Given the description of an element on the screen output the (x, y) to click on. 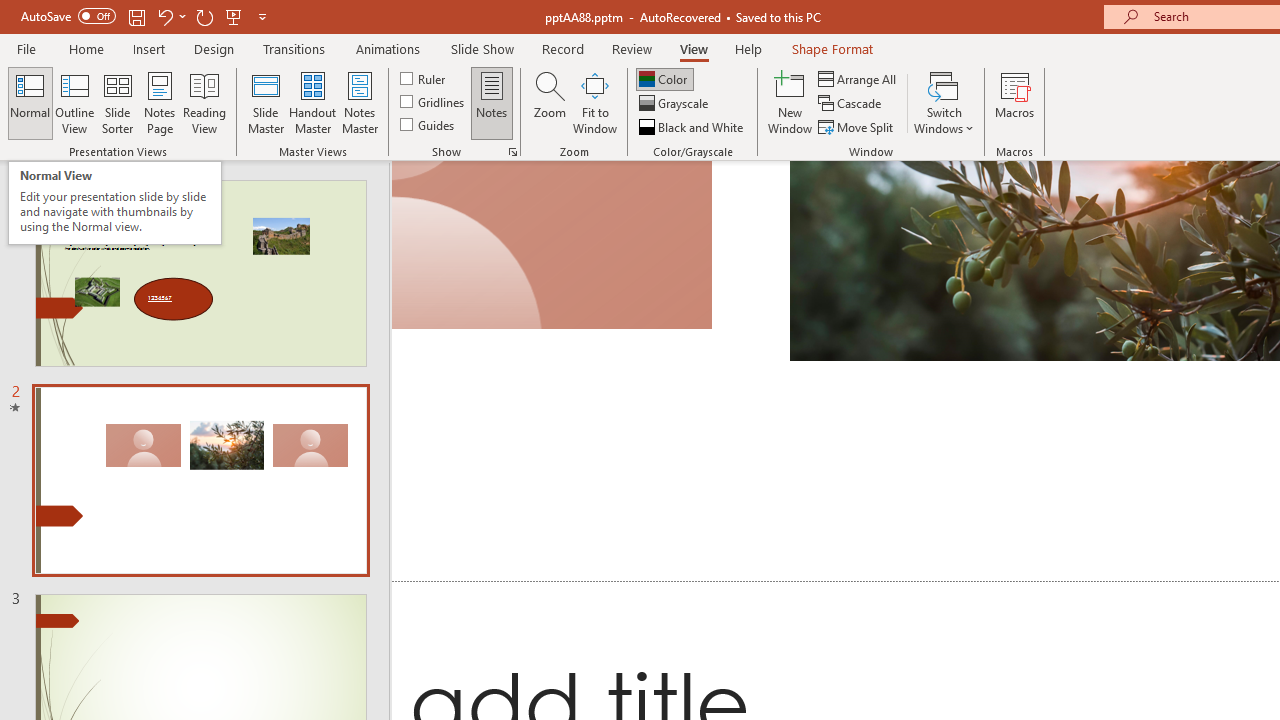
Macros (1014, 102)
Slide Master (265, 102)
Switch Windows (943, 102)
Camera 13, No camera detected. (552, 245)
Color (664, 78)
Handout Master (312, 102)
Zoom... (549, 102)
Grid Settings... (512, 151)
Black and White (693, 126)
